Given the description of an element on the screen output the (x, y) to click on. 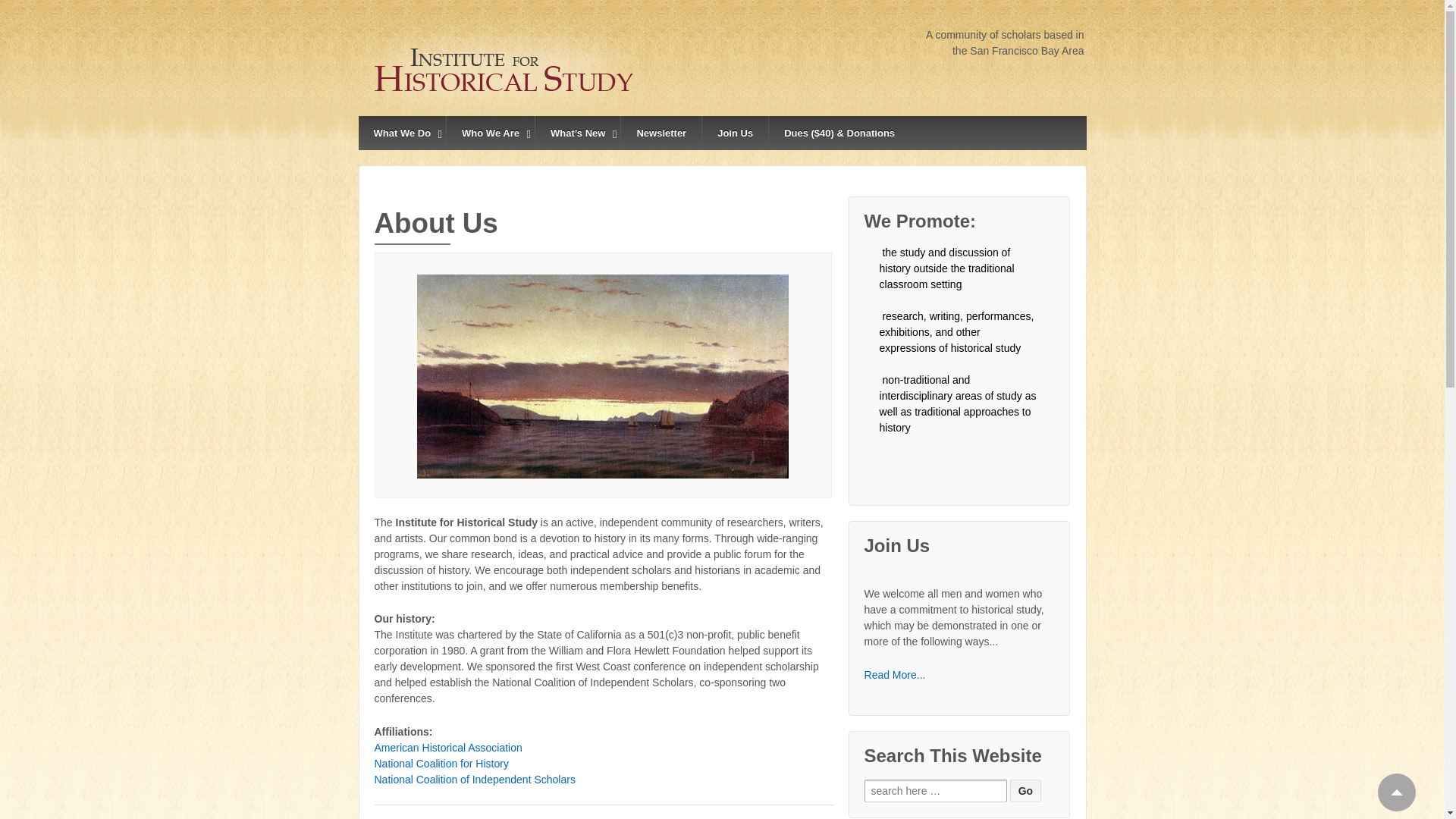
Join Us (734, 132)
Read More... (895, 674)
Go (1025, 790)
Who We Are (489, 132)
American Historical Association (448, 747)
Permalink to About Us (603, 374)
National Coalition of Independent Scholars (474, 779)
National Coalition for History (441, 763)
Go (1025, 790)
Newsletter (660, 132)
